Given the description of an element on the screen output the (x, y) to click on. 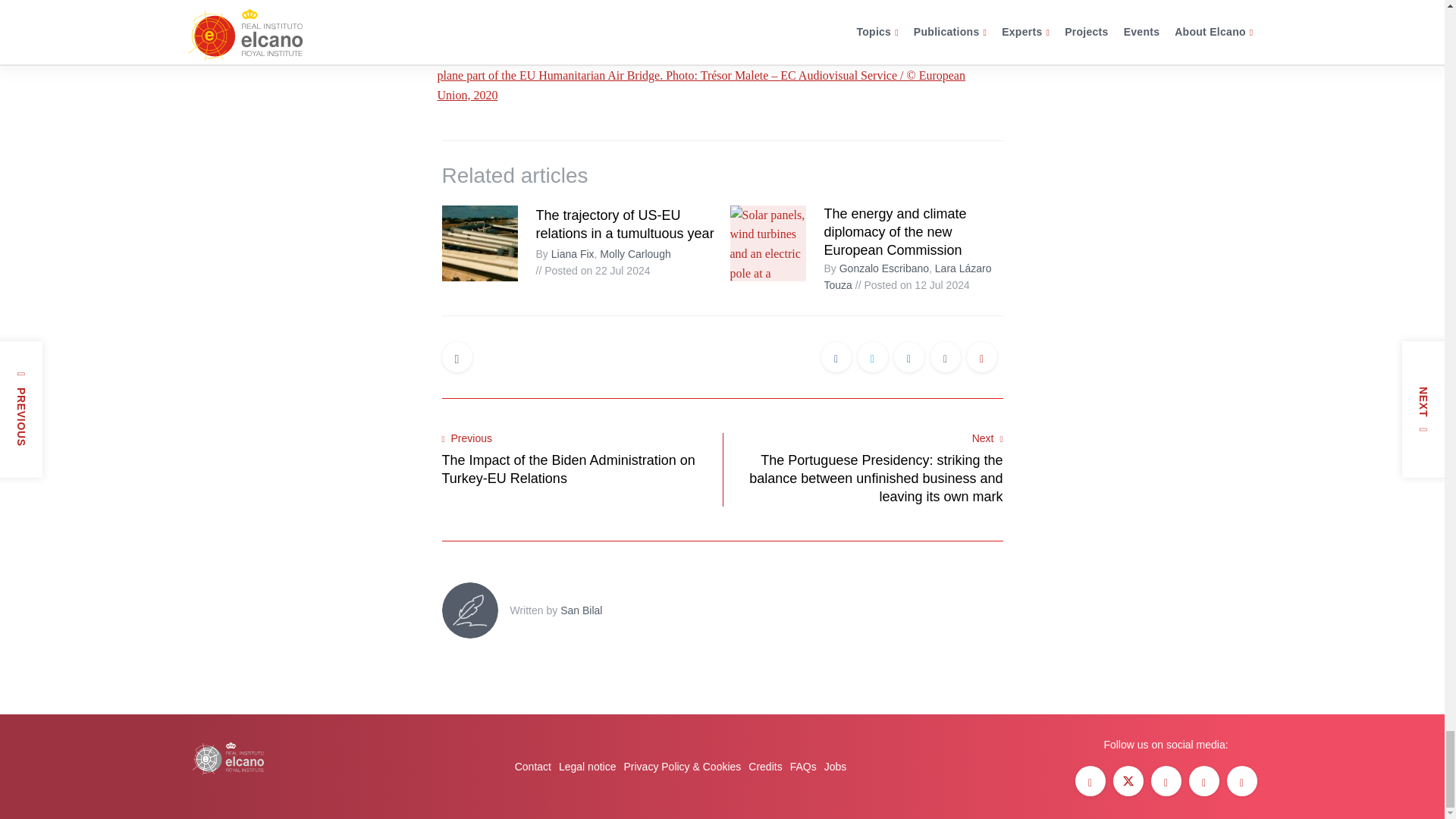
Posted on 12 Jul 2024 (912, 285)
Copy Link (980, 358)
Posted on 22 Jul 2024 (592, 270)
